Given the description of an element on the screen output the (x, y) to click on. 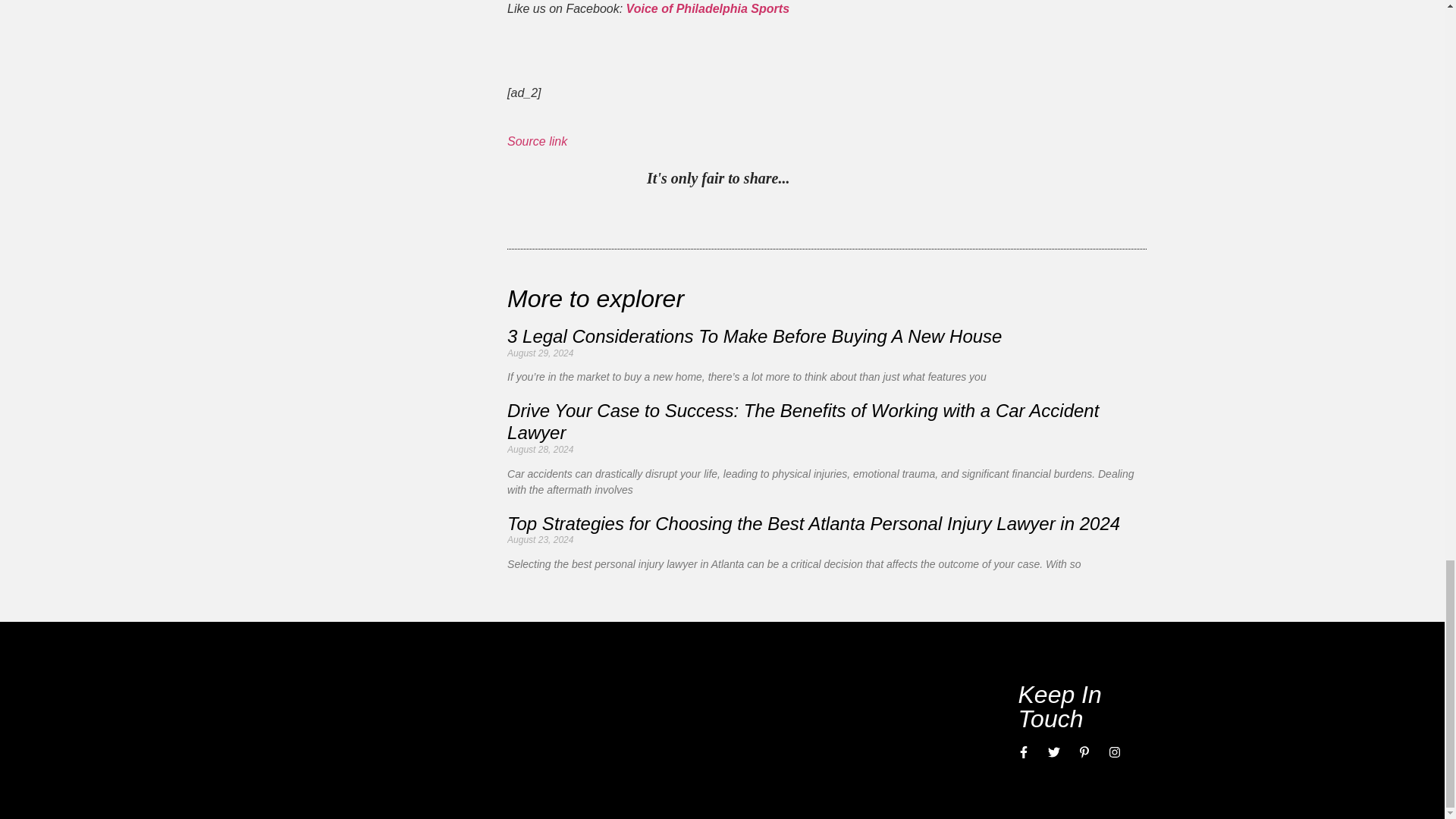
Voice of Philadelphia Sports (707, 8)
twitter (836, 179)
linkedin (866, 179)
google (898, 179)
email (959, 179)
print (991, 179)
pinterest (805, 179)
facebook (929, 179)
Source link (536, 141)
